Given the description of an element on the screen output the (x, y) to click on. 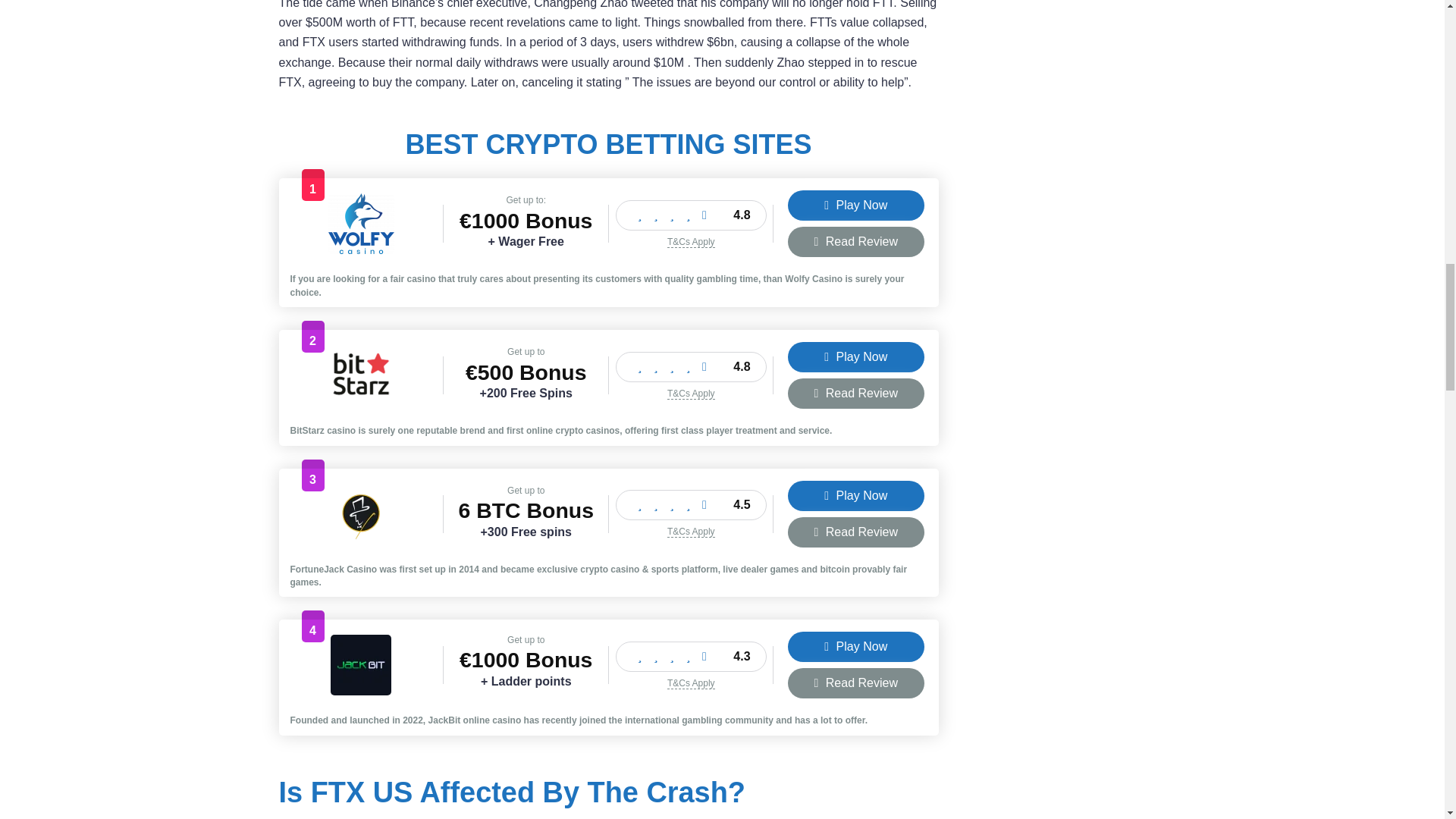
Read Review (855, 241)
Wolfy Casino (361, 249)
BitStarz (360, 400)
Play Now (855, 205)
